Given the description of an element on the screen output the (x, y) to click on. 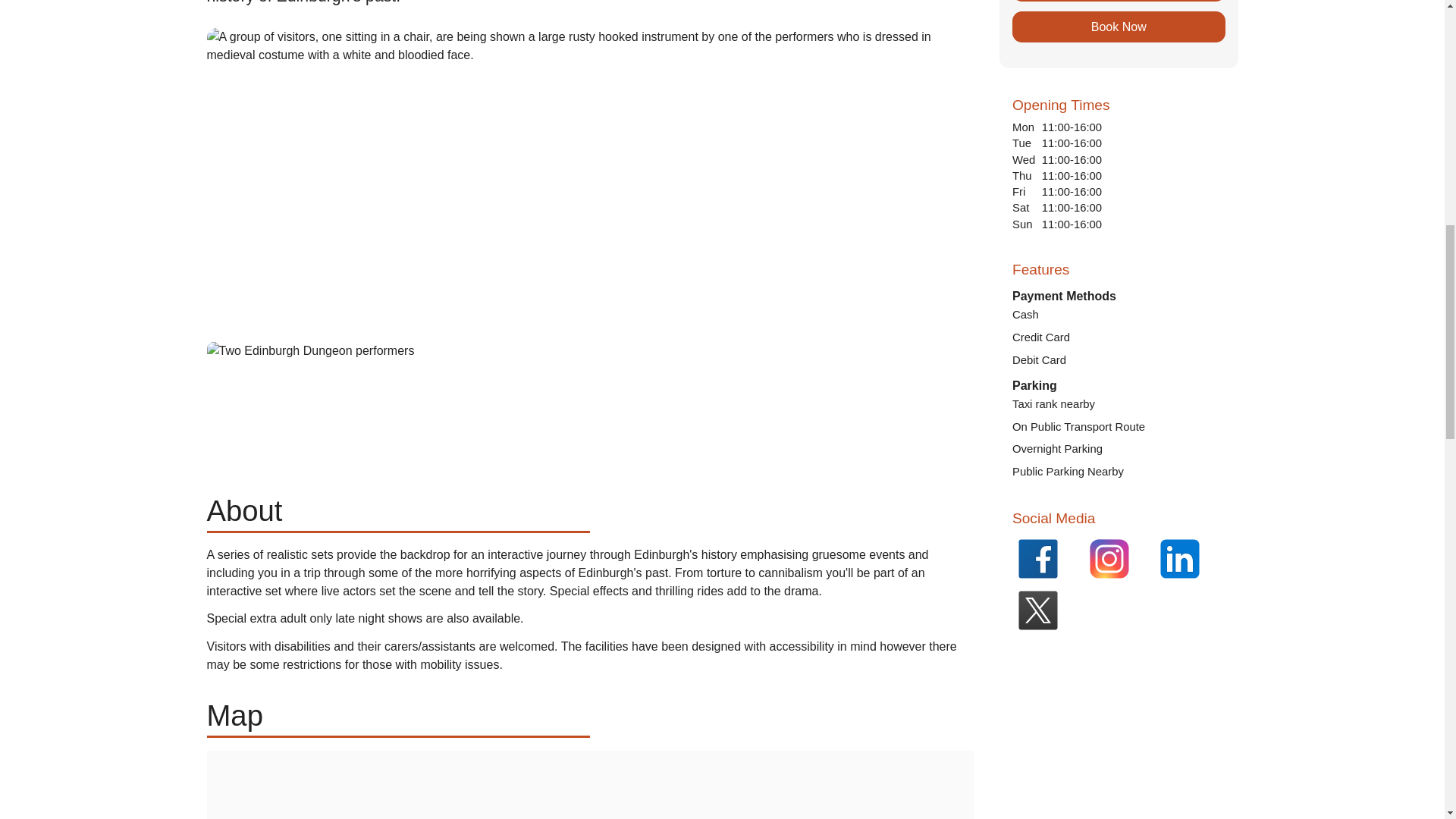
Facebook (1047, 558)
LinkedIn (1189, 558)
X Social Media (1047, 610)
Instagram (1118, 558)
